Given the description of an element on the screen output the (x, y) to click on. 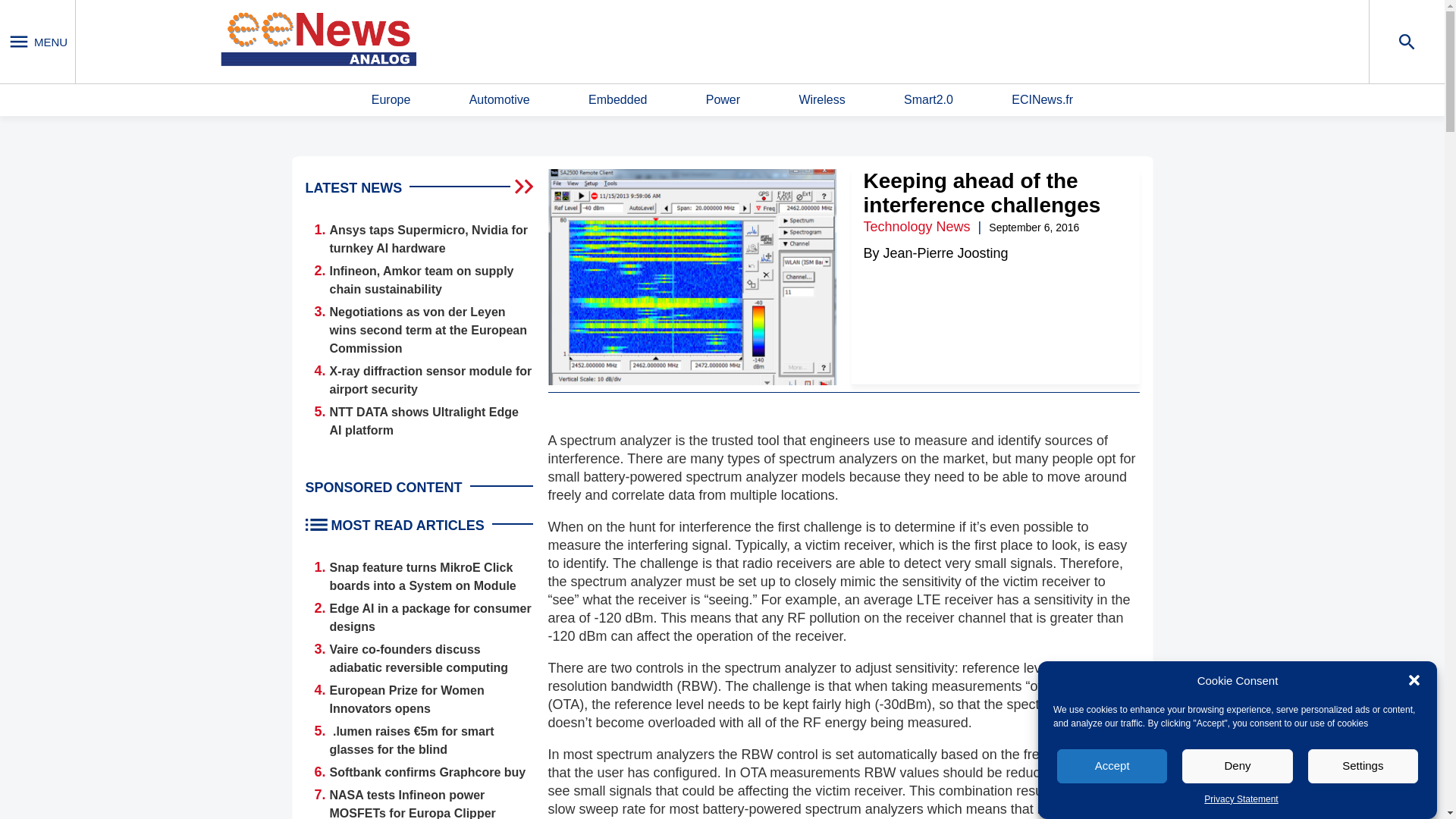
Power (722, 99)
Wireless (820, 99)
Automotive (498, 99)
Embedded (617, 99)
Smart2.0 (928, 99)
Europe (390, 99)
ECINews.fr (1042, 99)
